Given the description of an element on the screen output the (x, y) to click on. 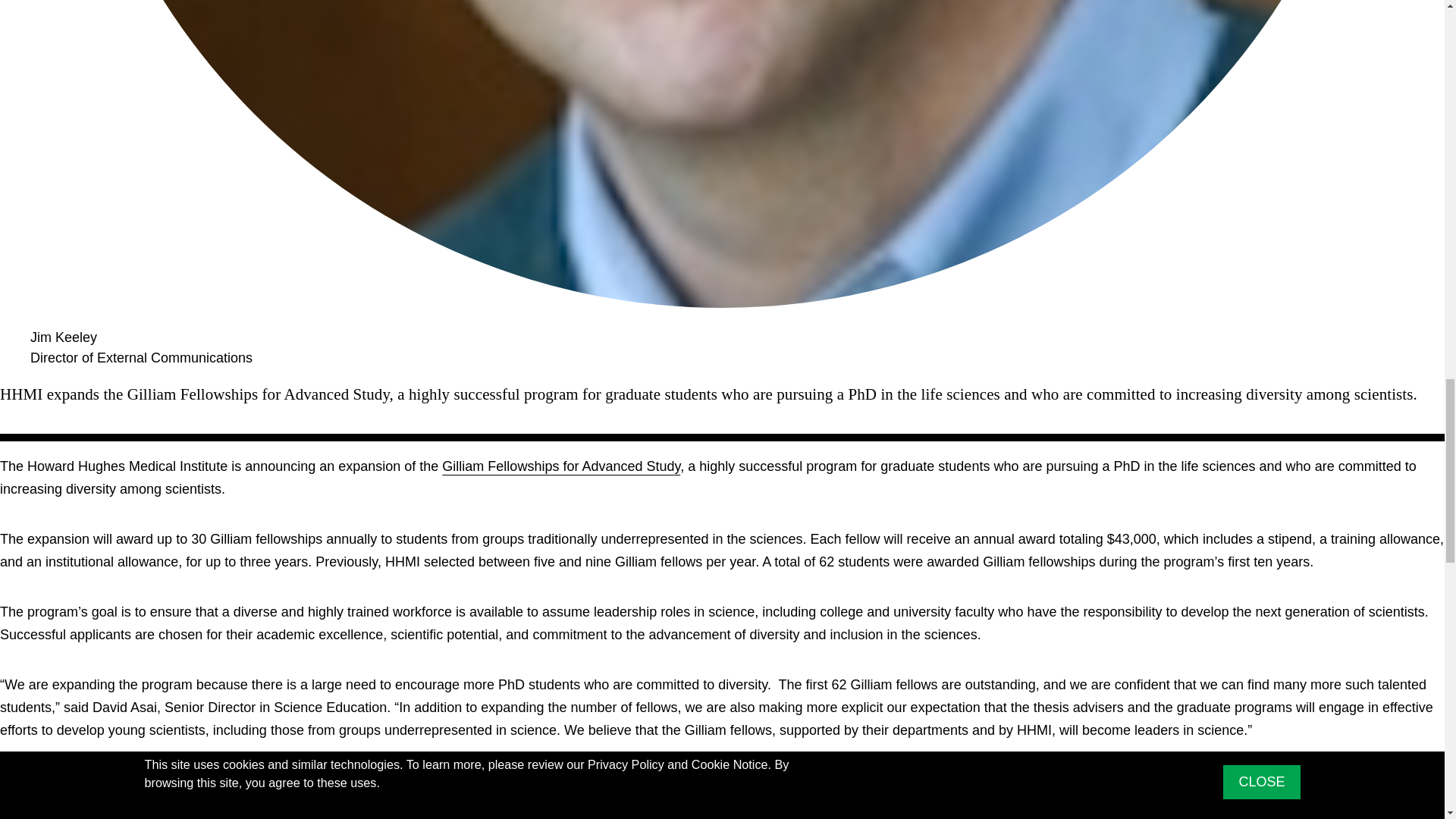
Gilliam Fellowships for Advanced Study (560, 466)
Gilliam Fellows Program (560, 466)
